Given the description of an element on the screen output the (x, y) to click on. 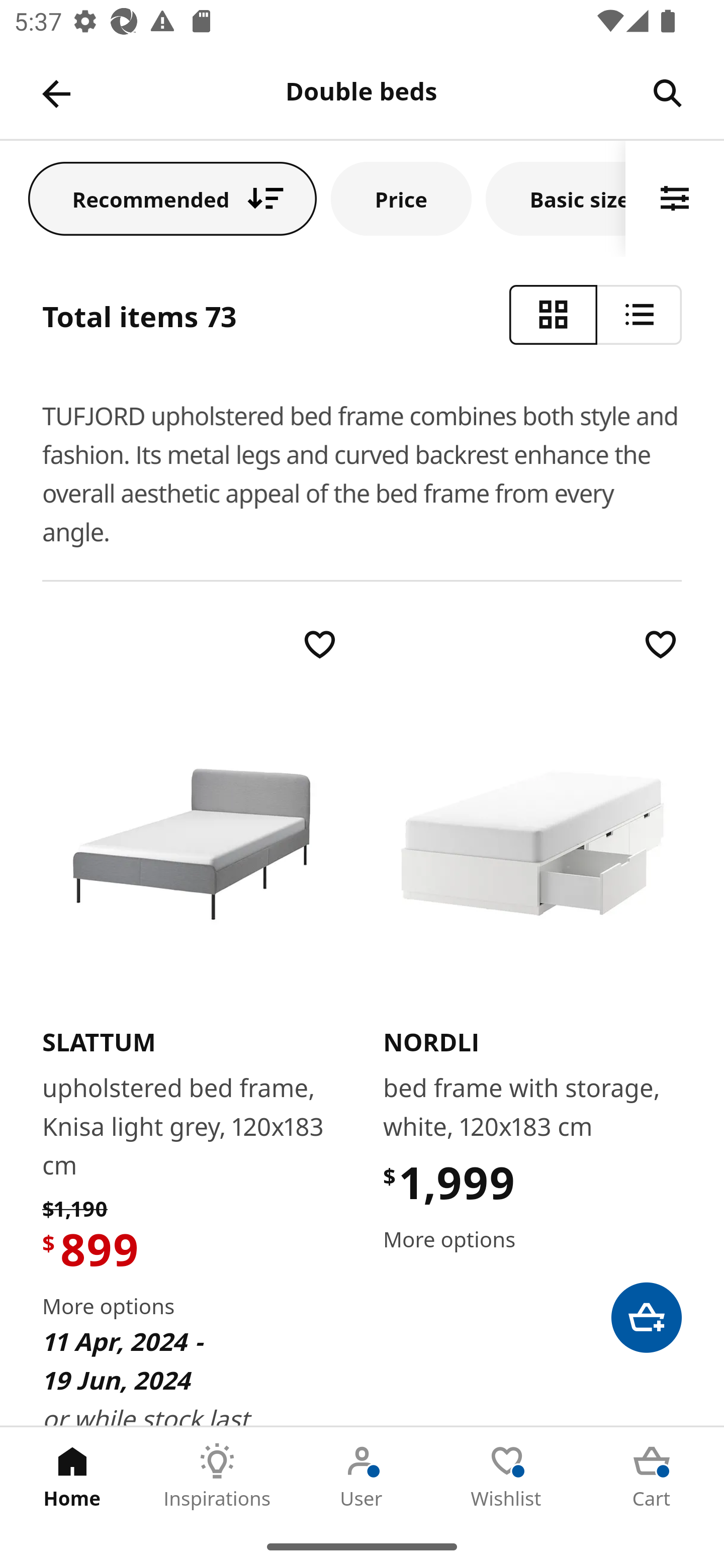
Recommended (172, 198)
Price (400, 198)
Basic sizes (555, 198)
Home
Tab 1 of 5 (72, 1476)
Inspirations
Tab 2 of 5 (216, 1476)
User
Tab 3 of 5 (361, 1476)
Wishlist
Tab 4 of 5 (506, 1476)
Cart
Tab 5 of 5 (651, 1476)
